Given the description of an element on the screen output the (x, y) to click on. 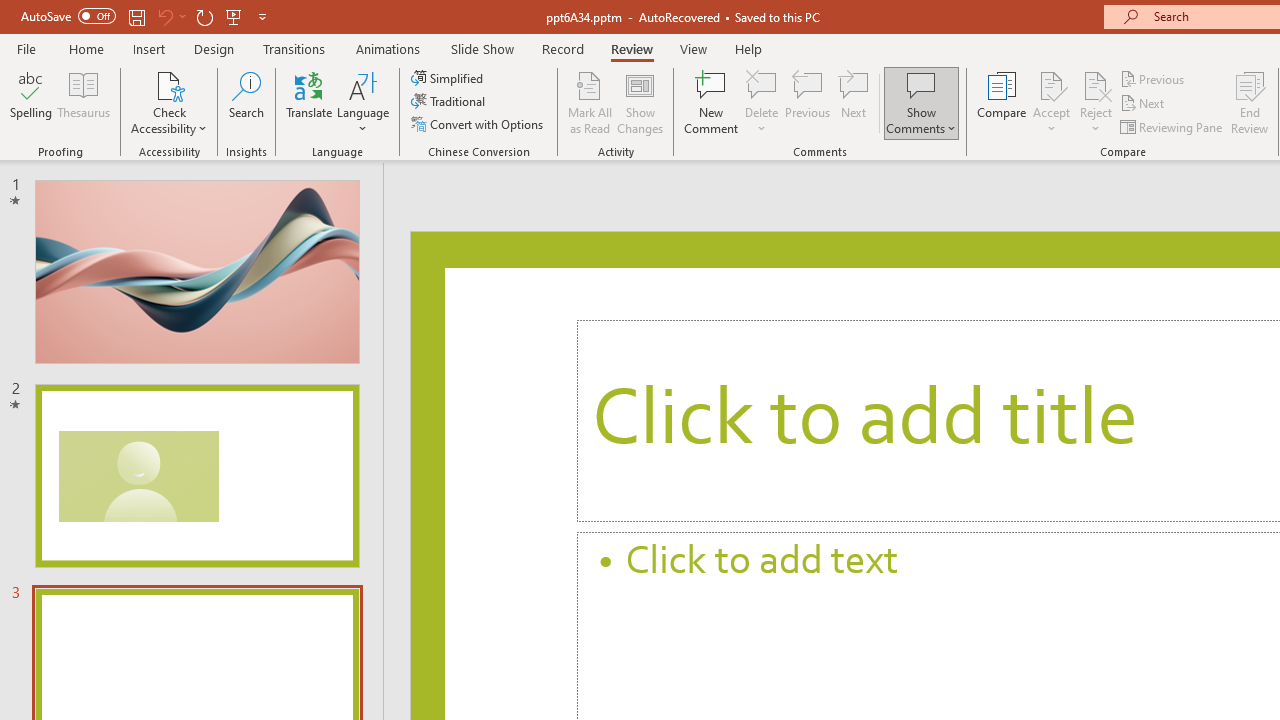
Traditional (449, 101)
Simplified (449, 78)
End Review (1249, 102)
Reviewing Pane (1172, 126)
Compare (1002, 102)
